Given the description of an element on the screen output the (x, y) to click on. 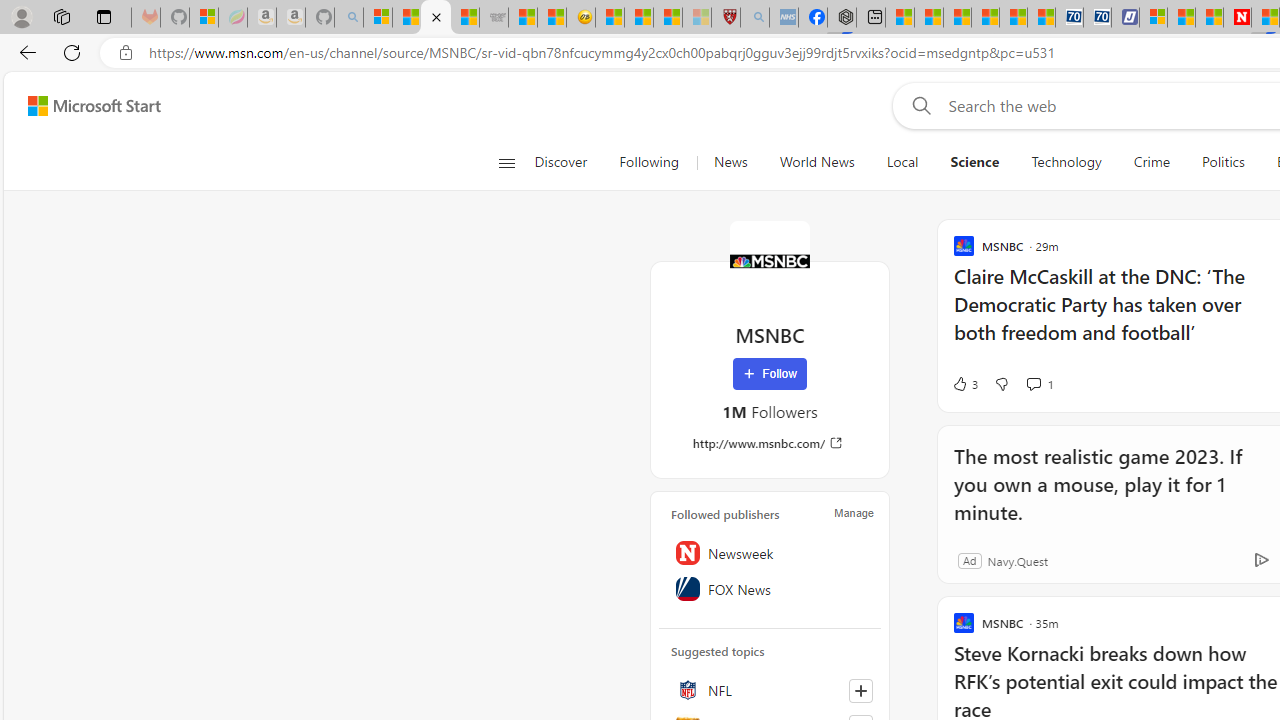
Politics (1223, 162)
Follow this topic (860, 690)
12 Popular Science Lies that Must be Corrected - Sleeping (696, 17)
Crime (1151, 162)
FOX News (770, 588)
http://www.msnbc.com/ (769, 443)
Local (902, 162)
